Given the description of an element on the screen output the (x, y) to click on. 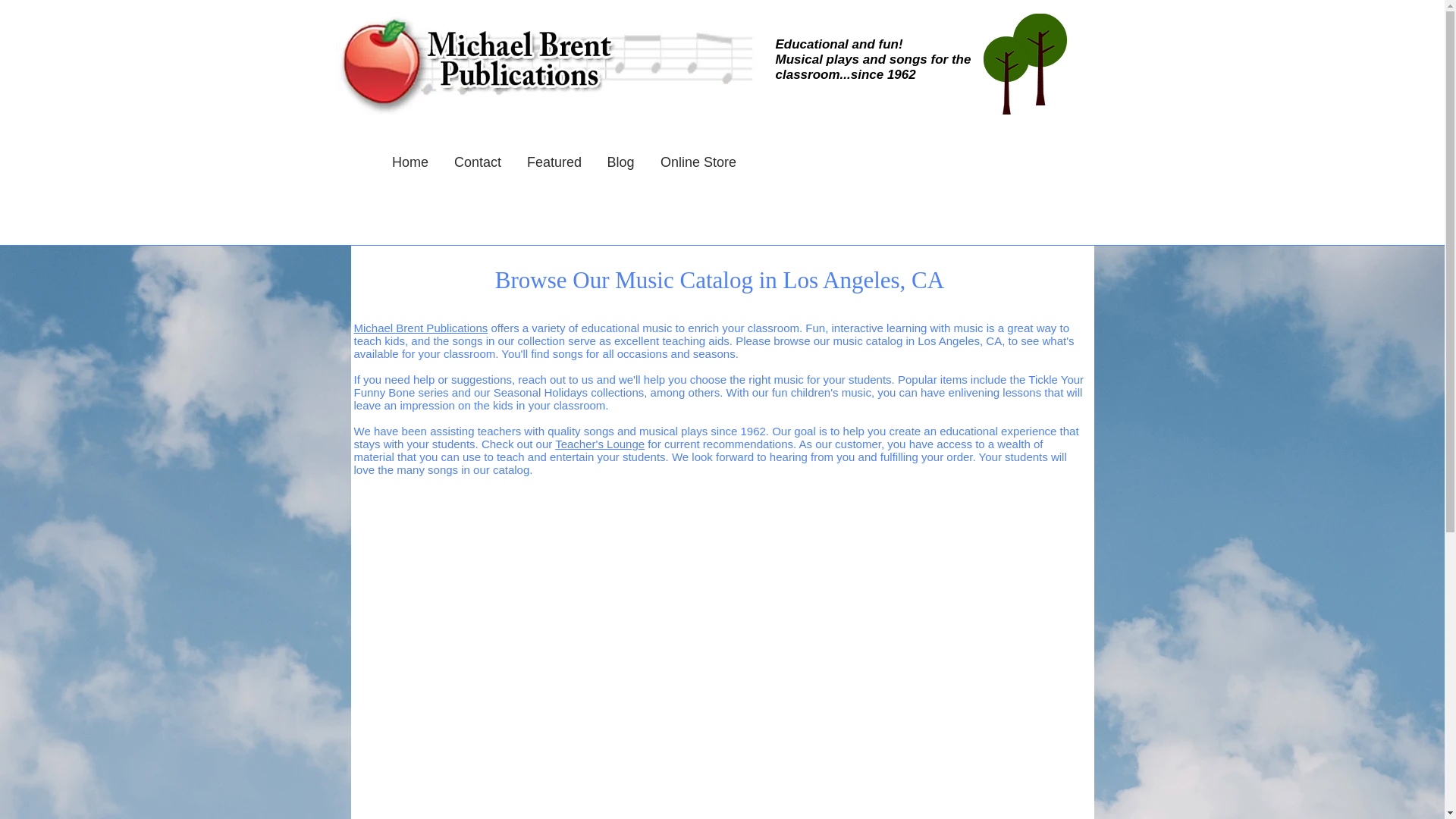
Featured (553, 162)
Contact (477, 162)
Blog (620, 162)
Michael Brent Publications (420, 327)
Online Store (697, 162)
Home (409, 162)
Teacher's Lounge (599, 443)
